Given the description of an element on the screen output the (x, y) to click on. 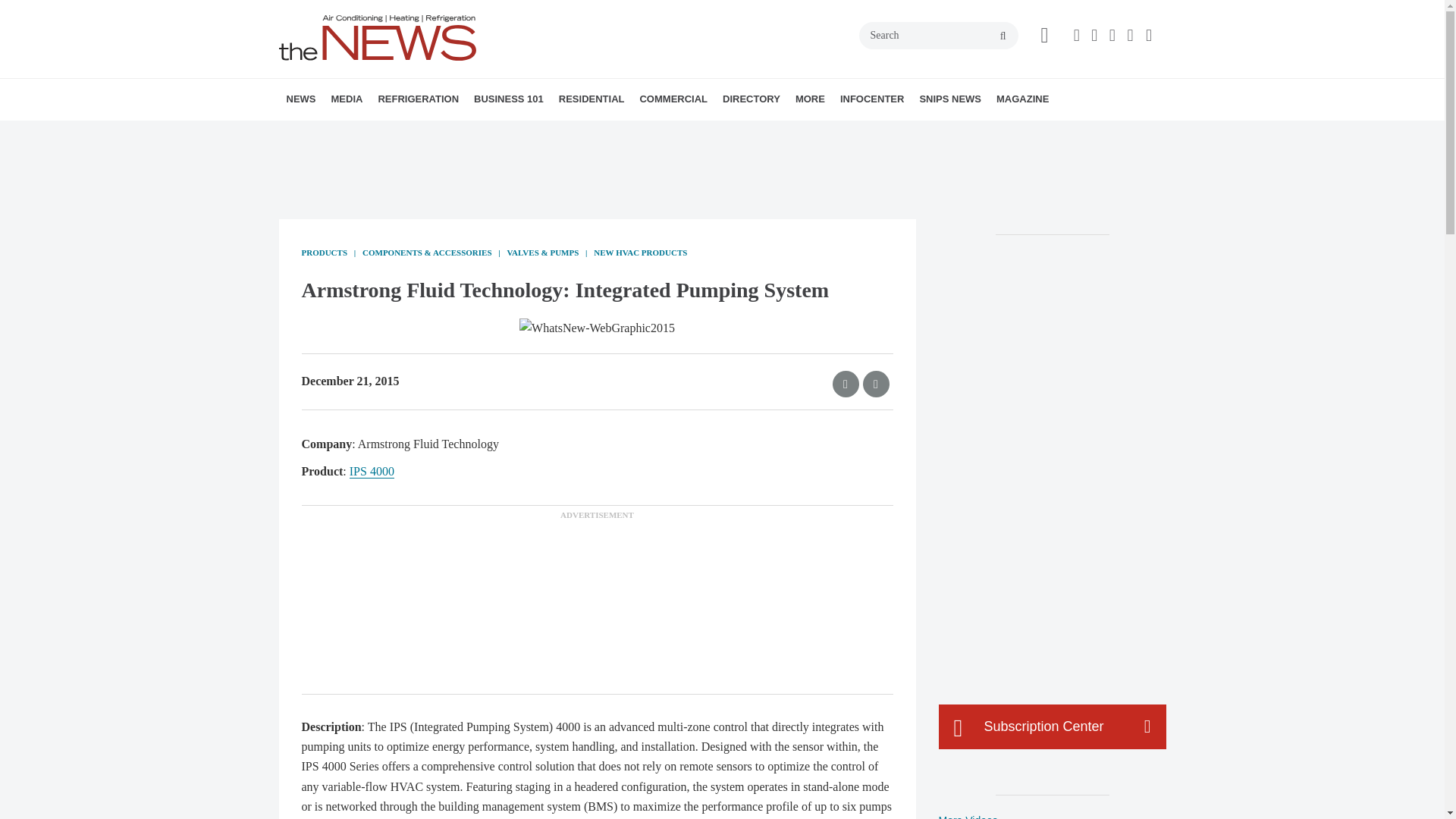
EBOOKS (442, 132)
MANUFACTURER REPORTS (386, 132)
BREAKING NEWS (373, 132)
MEDIA (346, 98)
Search (938, 35)
search (1002, 36)
PODCASTS (430, 132)
ONLINE POLL (452, 132)
REFRIGERANTS (464, 132)
THE NEWS HVACR QUIZ (445, 132)
